Given the description of an element on the screen output the (x, y) to click on. 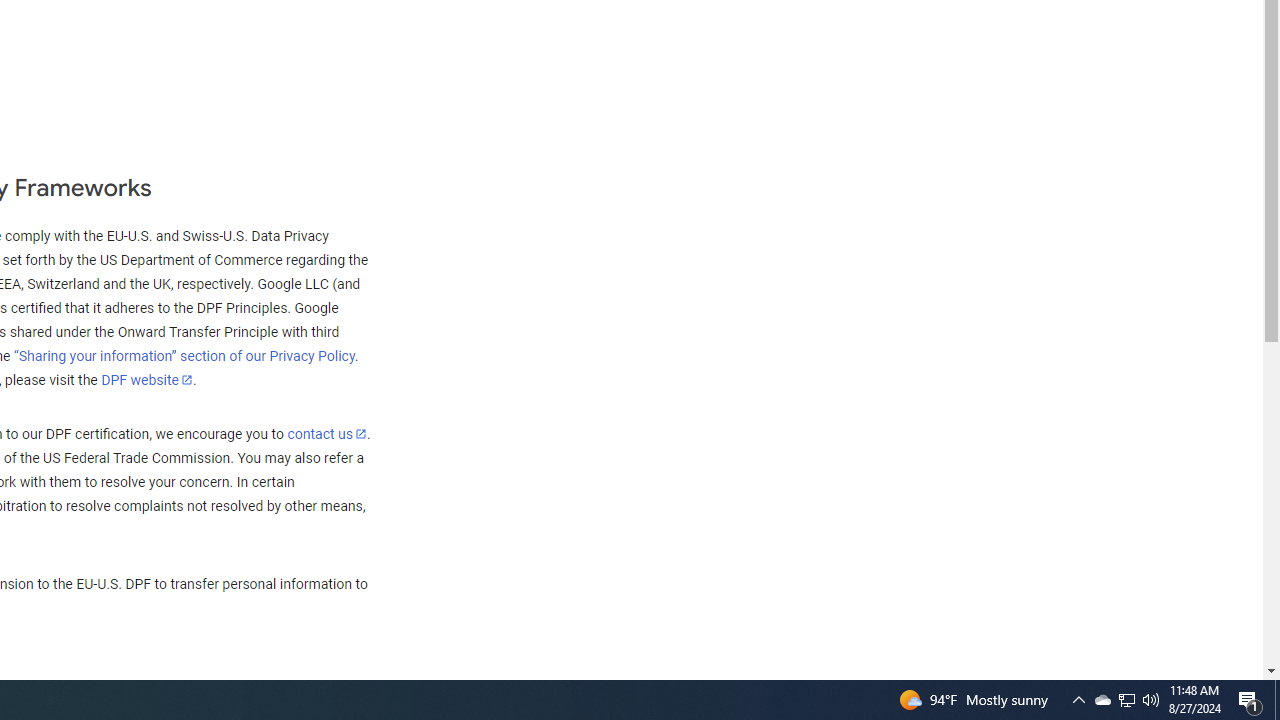
DPF website (147, 379)
contact us (326, 433)
